Given the description of an element on the screen output the (x, y) to click on. 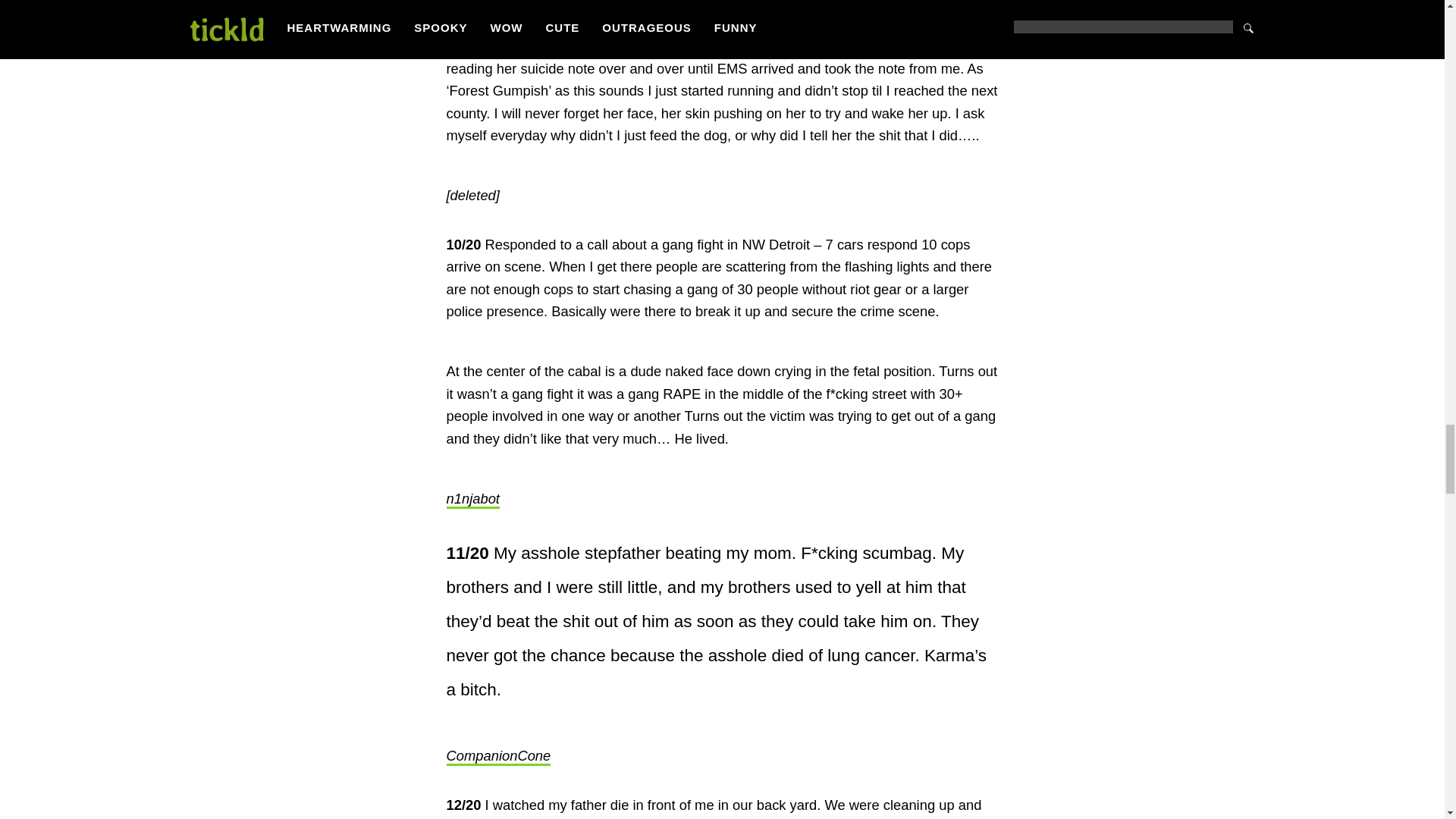
CompanionCone (497, 756)
n1njabot (472, 499)
